Given the description of an element on the screen output the (x, y) to click on. 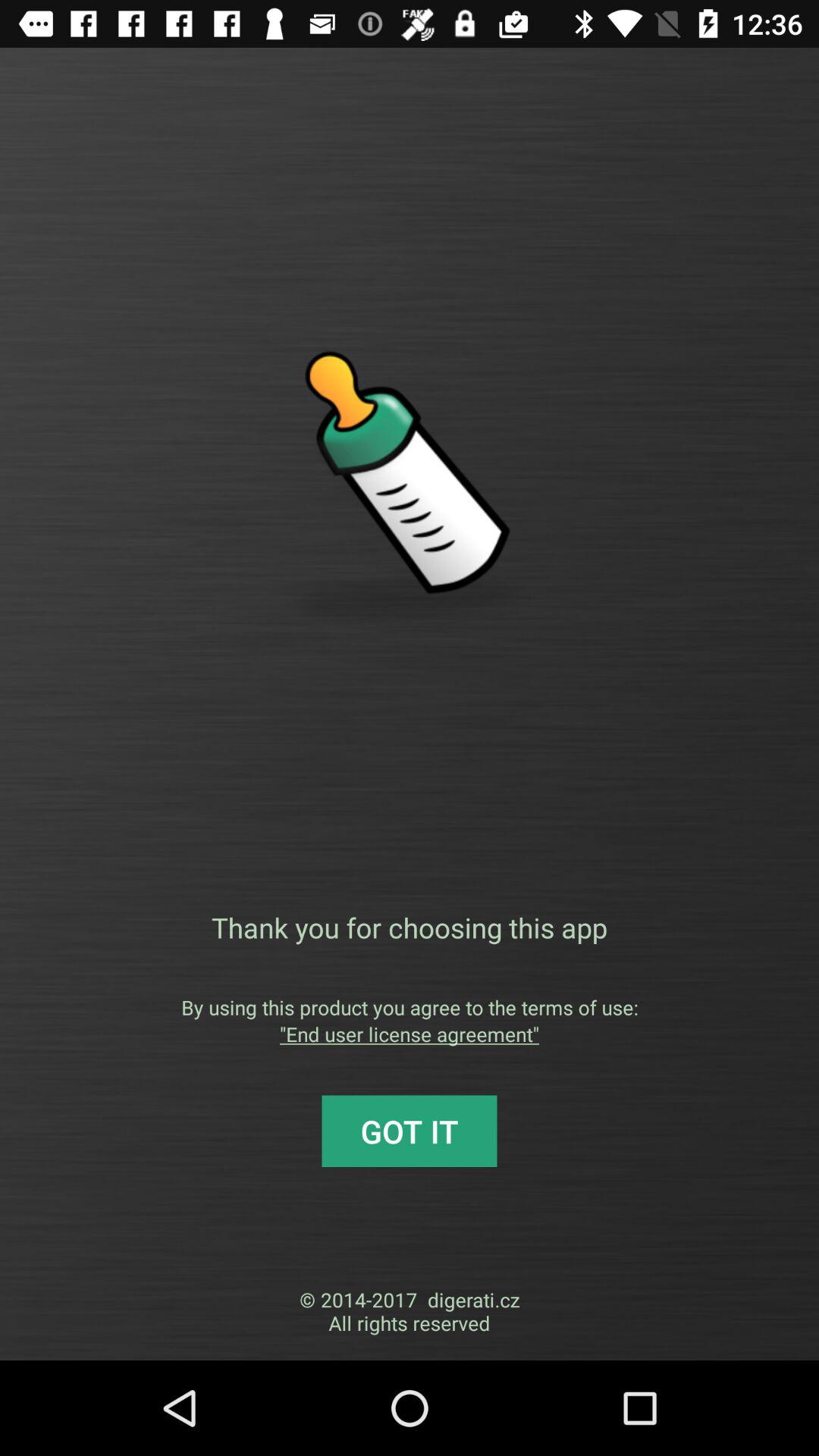
tap the item below the end user license item (409, 1131)
